Given the description of an element on the screen output the (x, y) to click on. 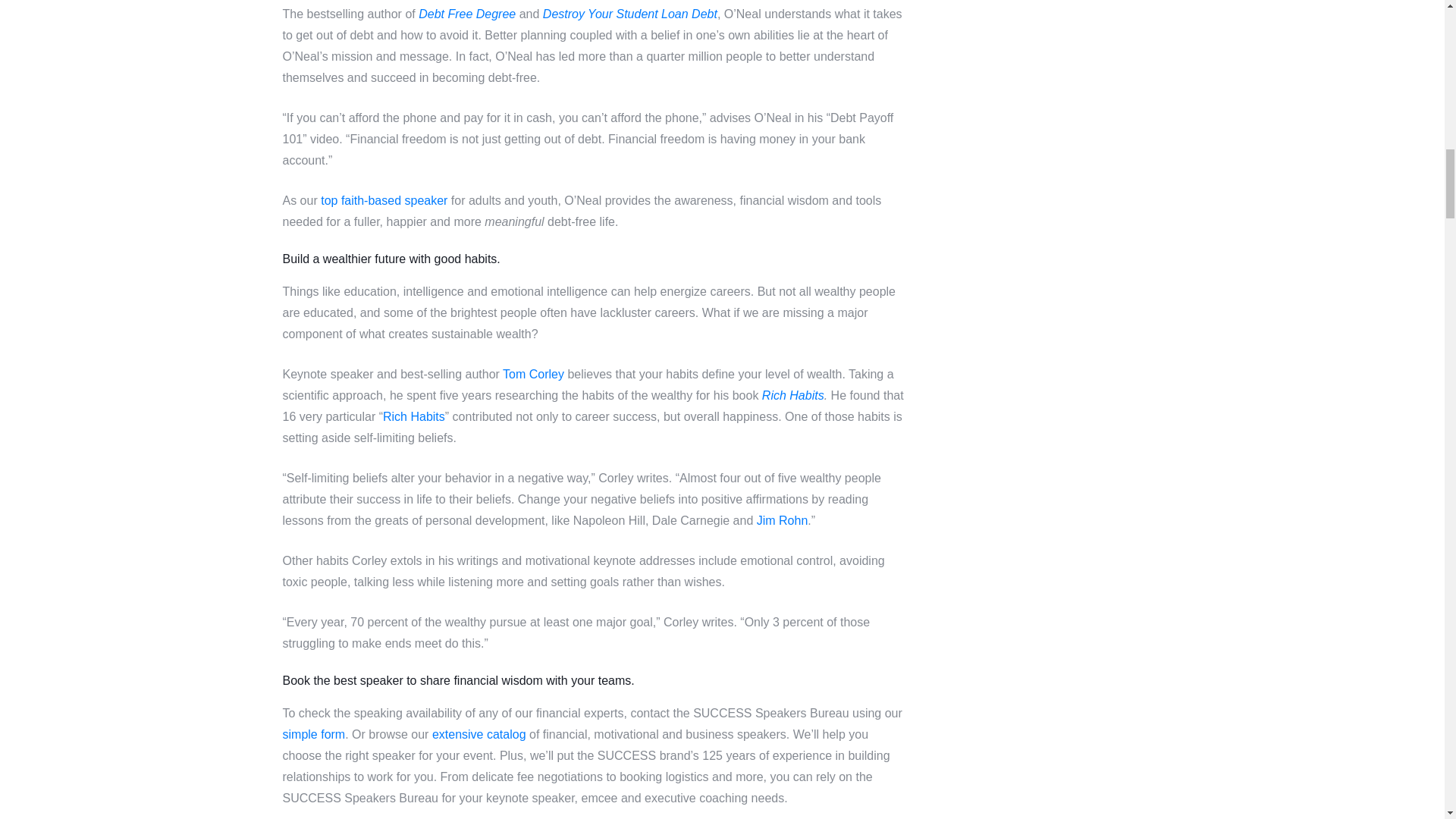
Rich Habits (413, 416)
Destroy Your Student Loan Debt (630, 13)
Jim Rohn (782, 520)
Tom Corley (533, 373)
Debt Free Degree (467, 13)
top faith-based speaker (383, 200)
Rich Habits (792, 395)
simple form (313, 734)
extensive catalog (478, 734)
